Given the description of an element on the screen output the (x, y) to click on. 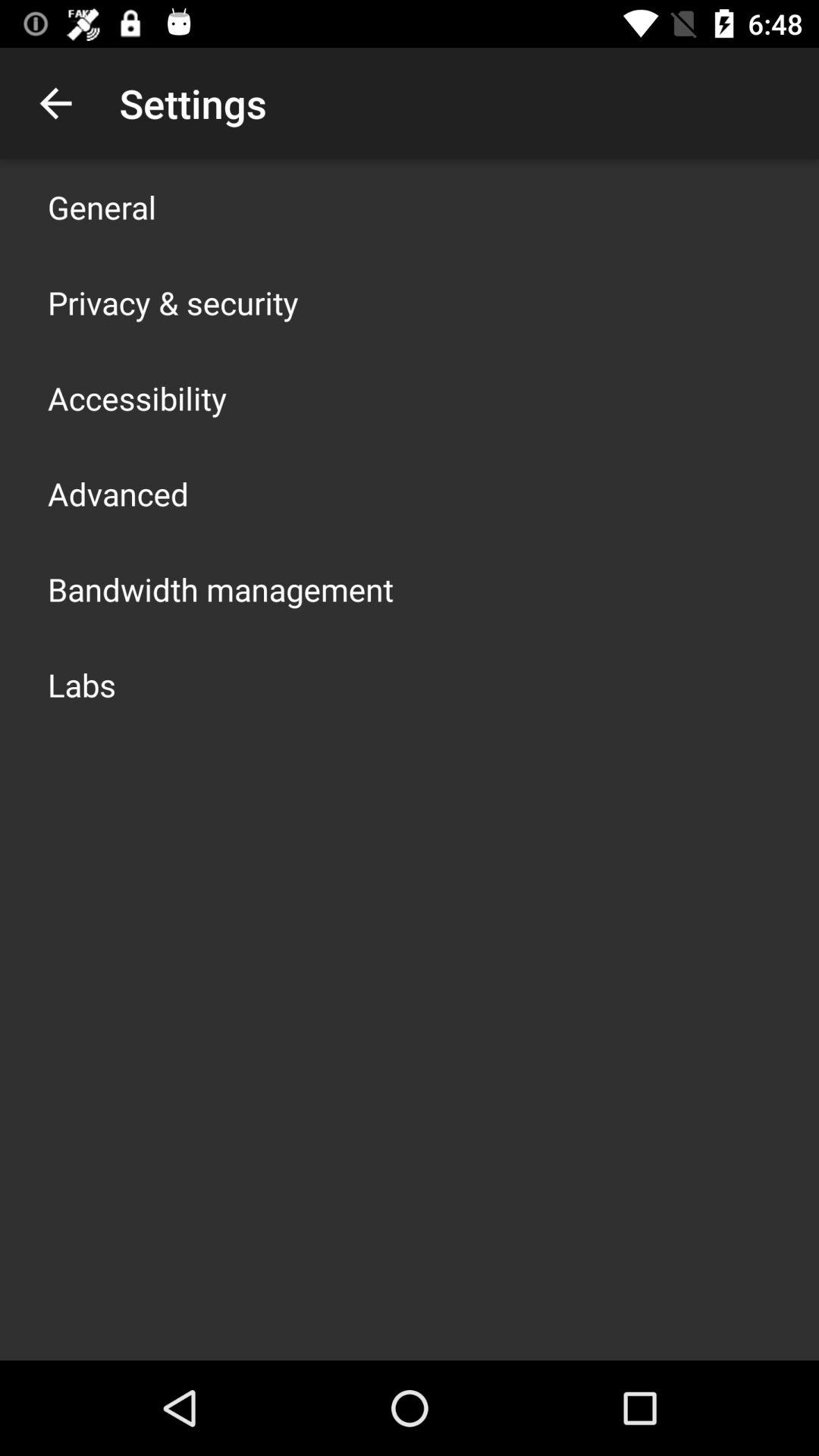
scroll to advanced item (117, 493)
